Given the description of an element on the screen output the (x, y) to click on. 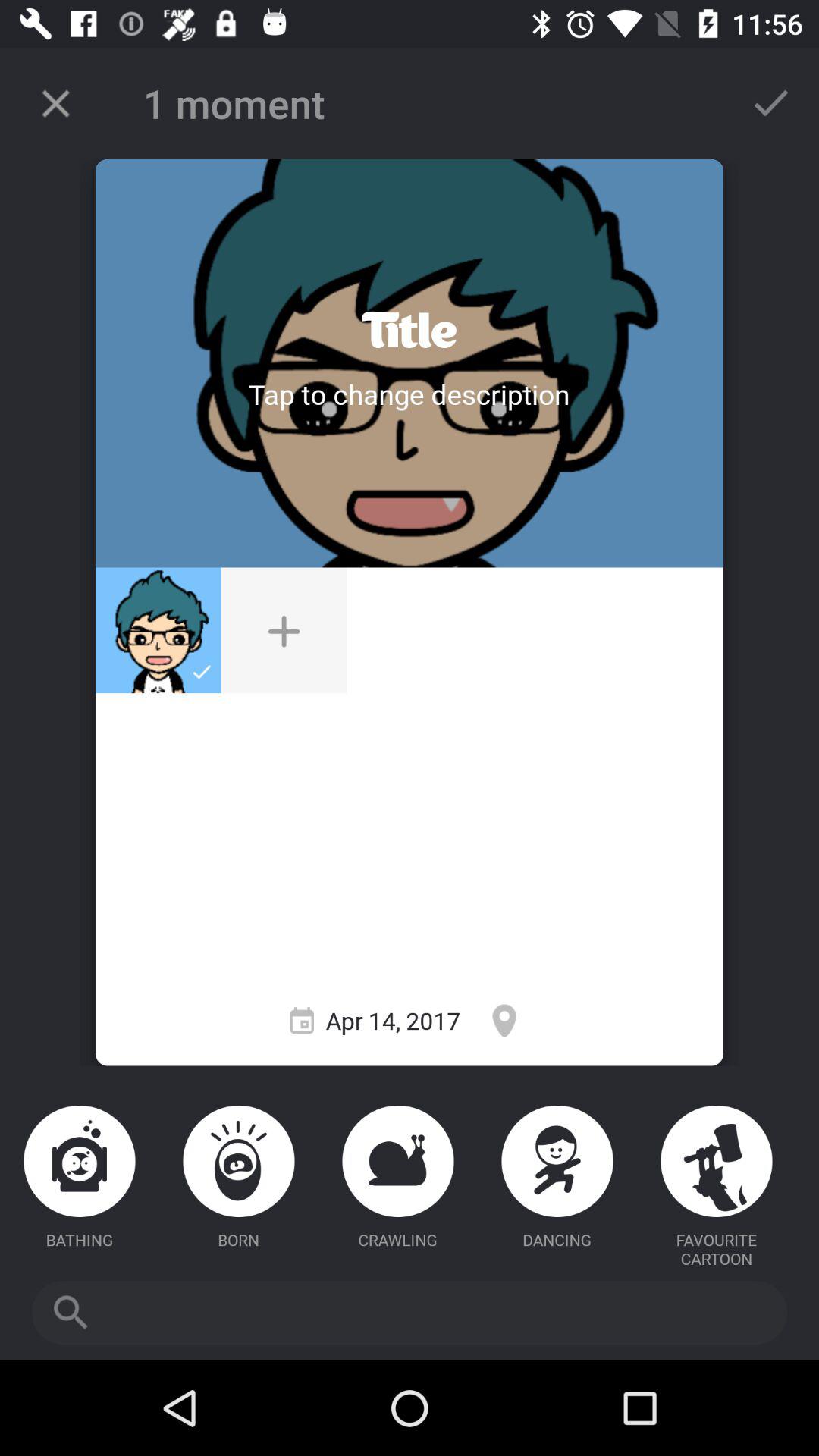
select the title (408, 330)
